Given the description of an element on the screen output the (x, y) to click on. 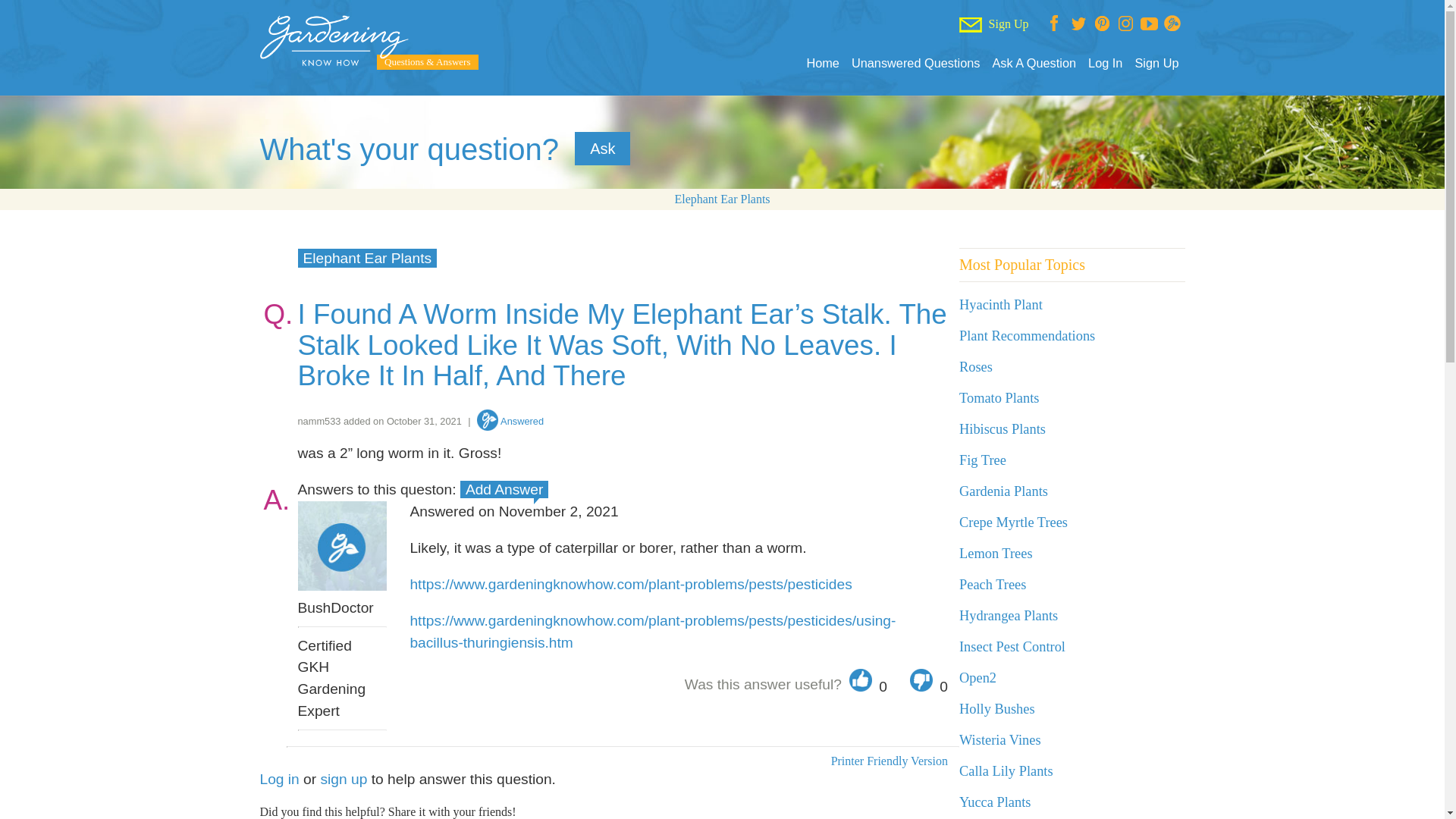
Answered (510, 420)
Hyacinth Plant (1000, 304)
Elephant Ear Plants (722, 198)
Plant Recommendations (1026, 335)
Peach Trees (992, 584)
Sign Up (1156, 62)
Fig Tree (982, 459)
Elephant Ear Plants (366, 257)
Printer Friendly Version (889, 760)
Hydrangea Plants (1008, 615)
